Given the description of an element on the screen output the (x, y) to click on. 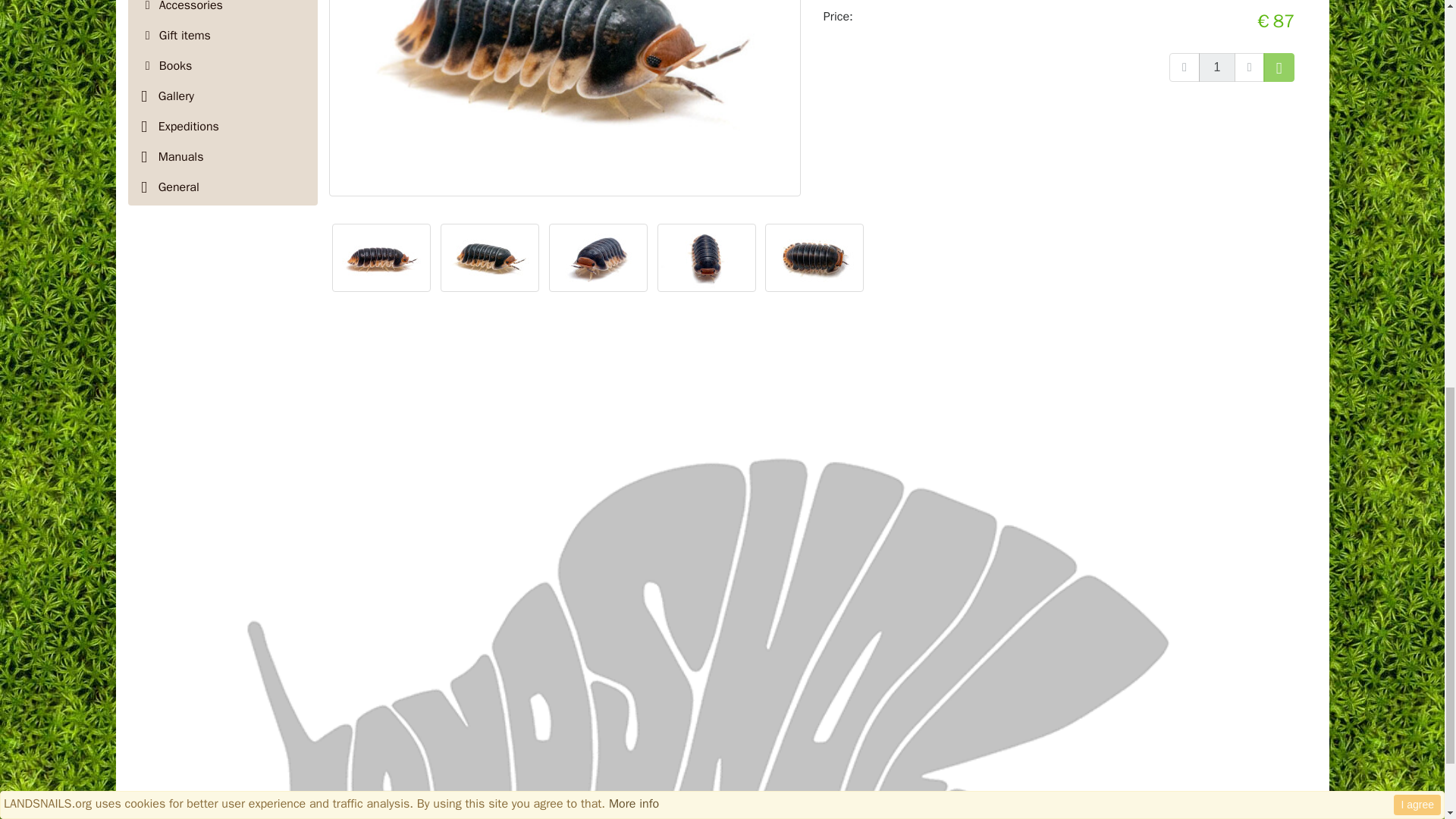
1 (1216, 67)
